Given the description of an element on the screen output the (x, y) to click on. 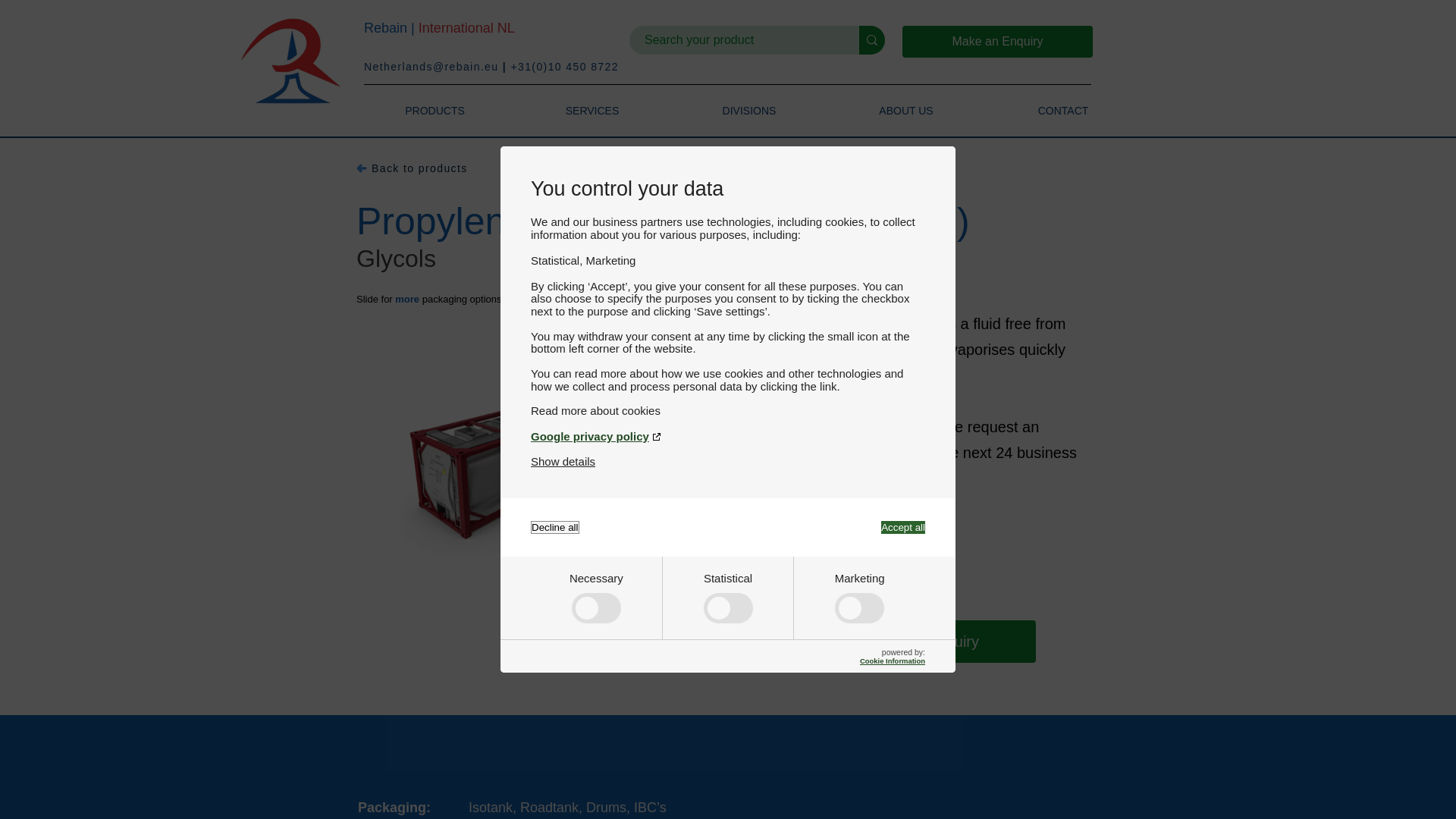
Google privacy policy (727, 436)
Accept all (902, 526)
Decline all (555, 526)
Read more about cookies (727, 410)
Show details (563, 461)
Cookie Information (892, 660)
